Given the description of an element on the screen output the (x, y) to click on. 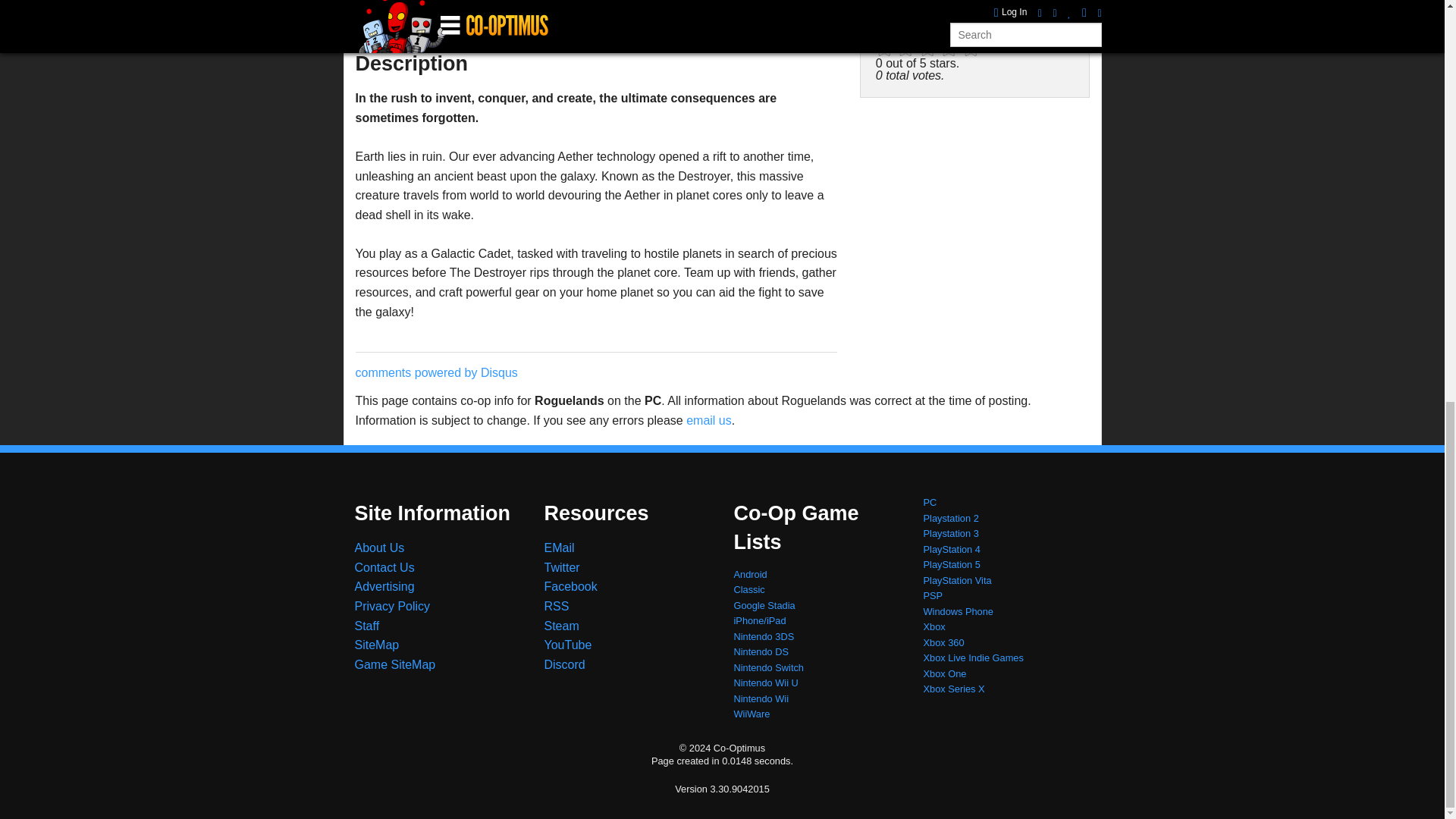
regular (927, 48)
gorgeous (970, 48)
Our current staff and bios. (367, 625)
comments powered by Disqus (435, 372)
bad (884, 48)
Join our Steam Group! (561, 625)
good (949, 48)
Advertising rates and traffic numbers. (384, 585)
poor (905, 48)
